Given the description of an element on the screen output the (x, y) to click on. 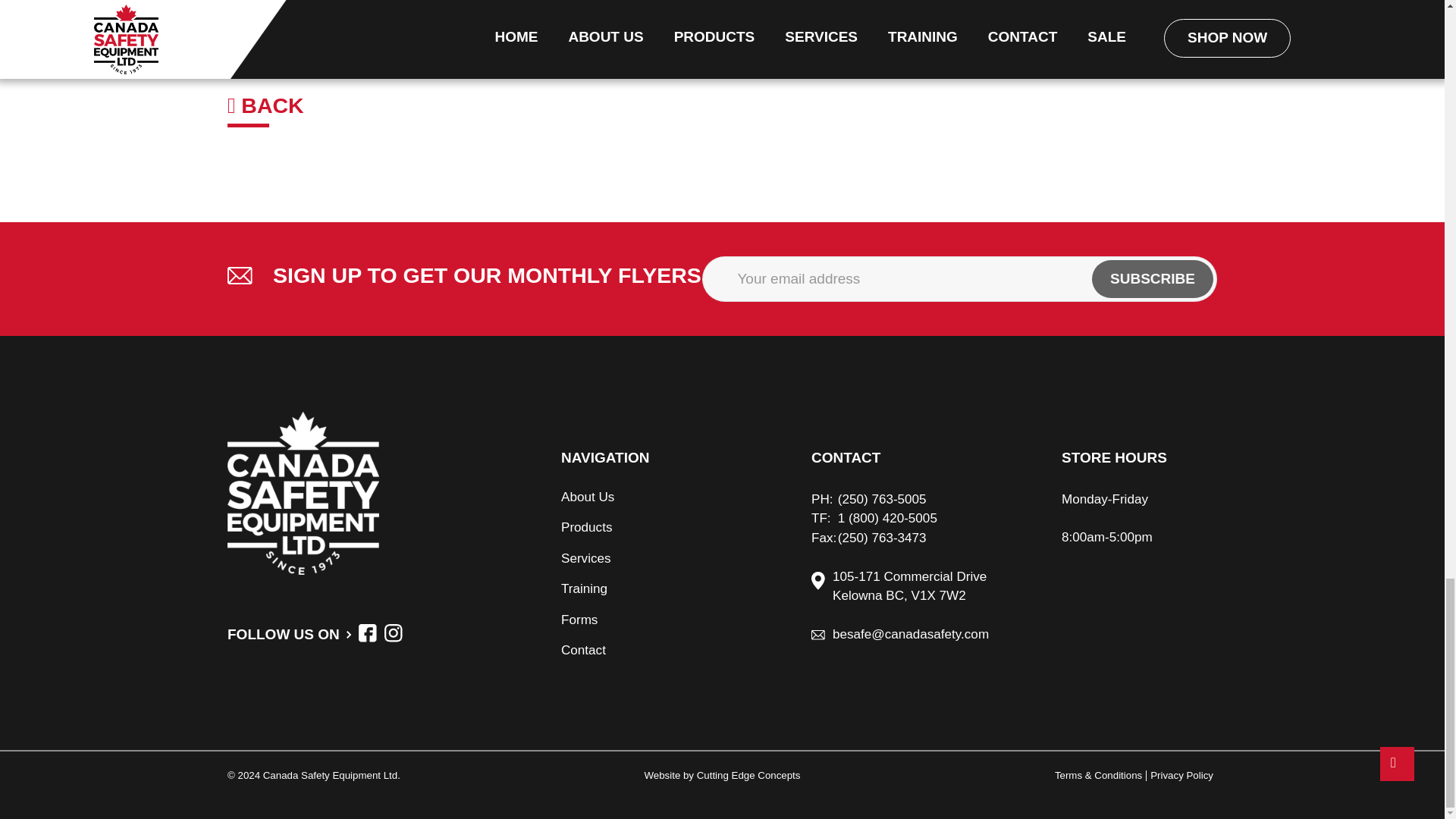
Subscribe (1152, 279)
